Given the description of an element on the screen output the (x, y) to click on. 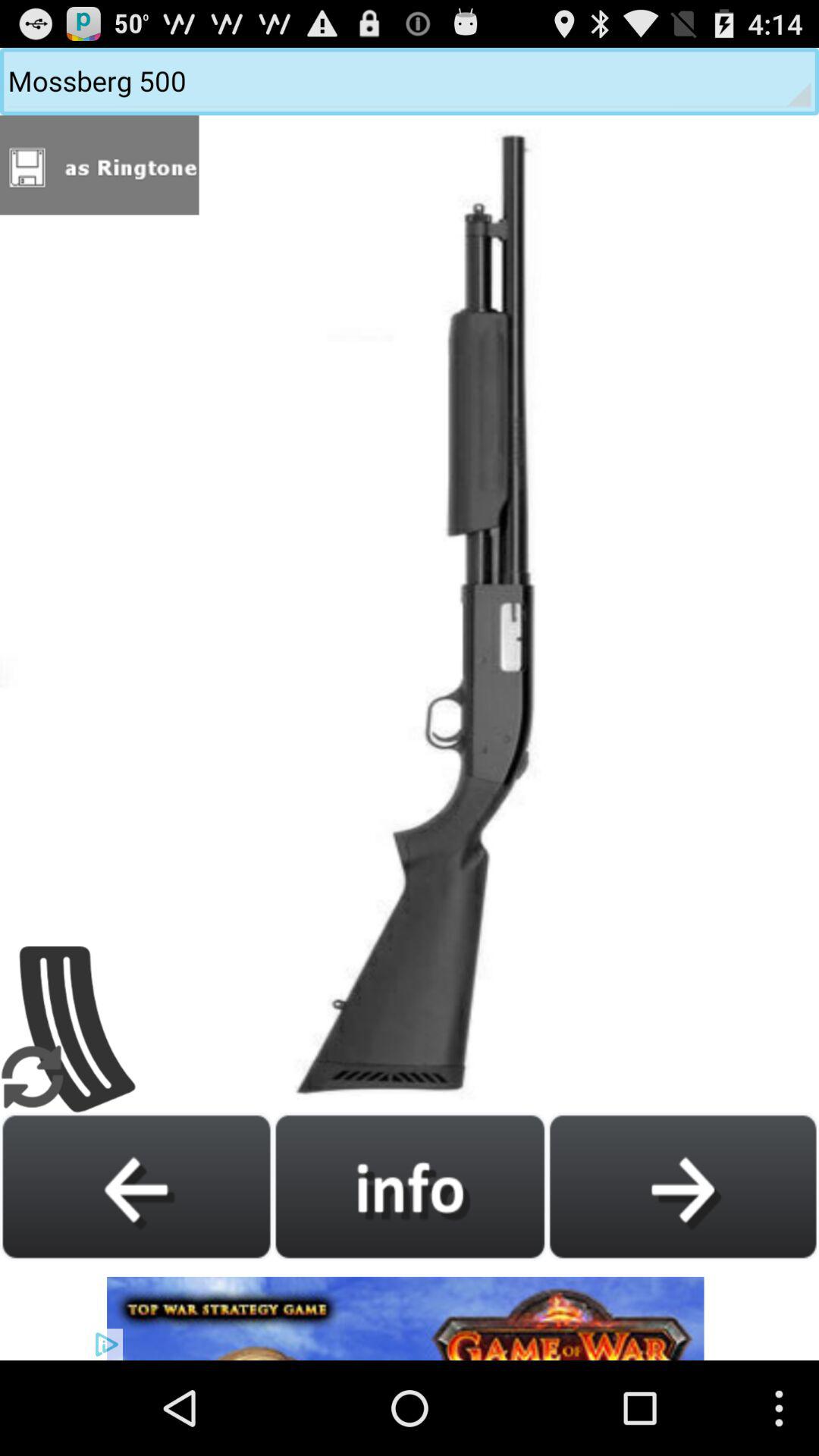
see more information (410, 1186)
